Given the description of an element on the screen output the (x, y) to click on. 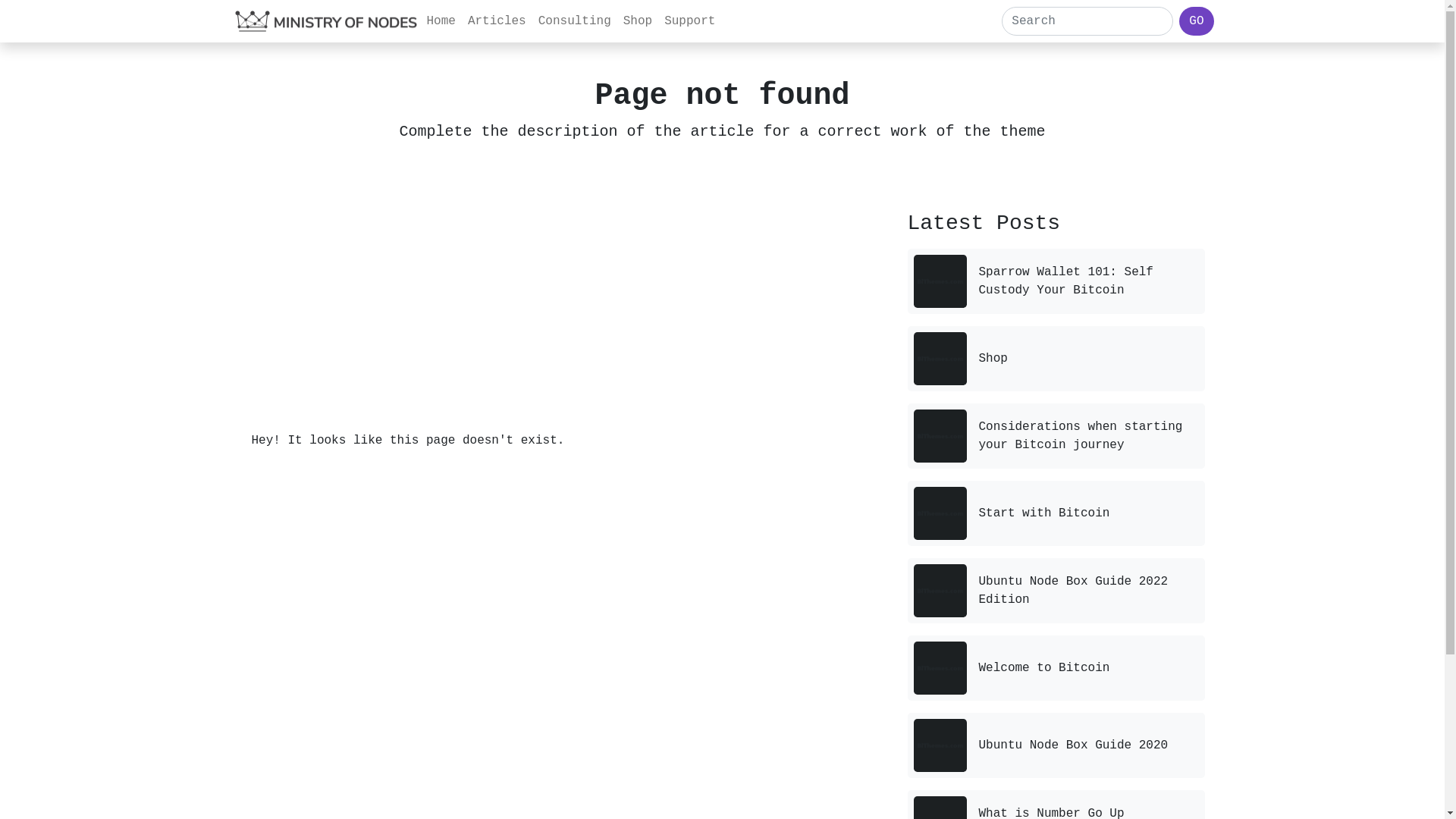
Support Element type: text (689, 21)
Welcome to Bitcoin Element type: text (1043, 667)
Ubuntu Node Box Guide 2020 Element type: text (1072, 745)
Consulting Element type: text (574, 21)
Articles Element type: text (496, 21)
Home Element type: text (440, 21)
Shop Element type: text (637, 21)
Considerations when starting your Bitcoin journey Element type: text (1080, 435)
Start with Bitcoin Element type: text (1043, 513)
Shop Element type: text (992, 358)
Sparrow Wallet 101: Self Custody Your Bitcoin Element type: text (1065, 281)
GO Element type: text (1196, 20)
Ubuntu Node Box Guide 2022 Edition Element type: text (1072, 590)
